Given the description of an element on the screen output the (x, y) to click on. 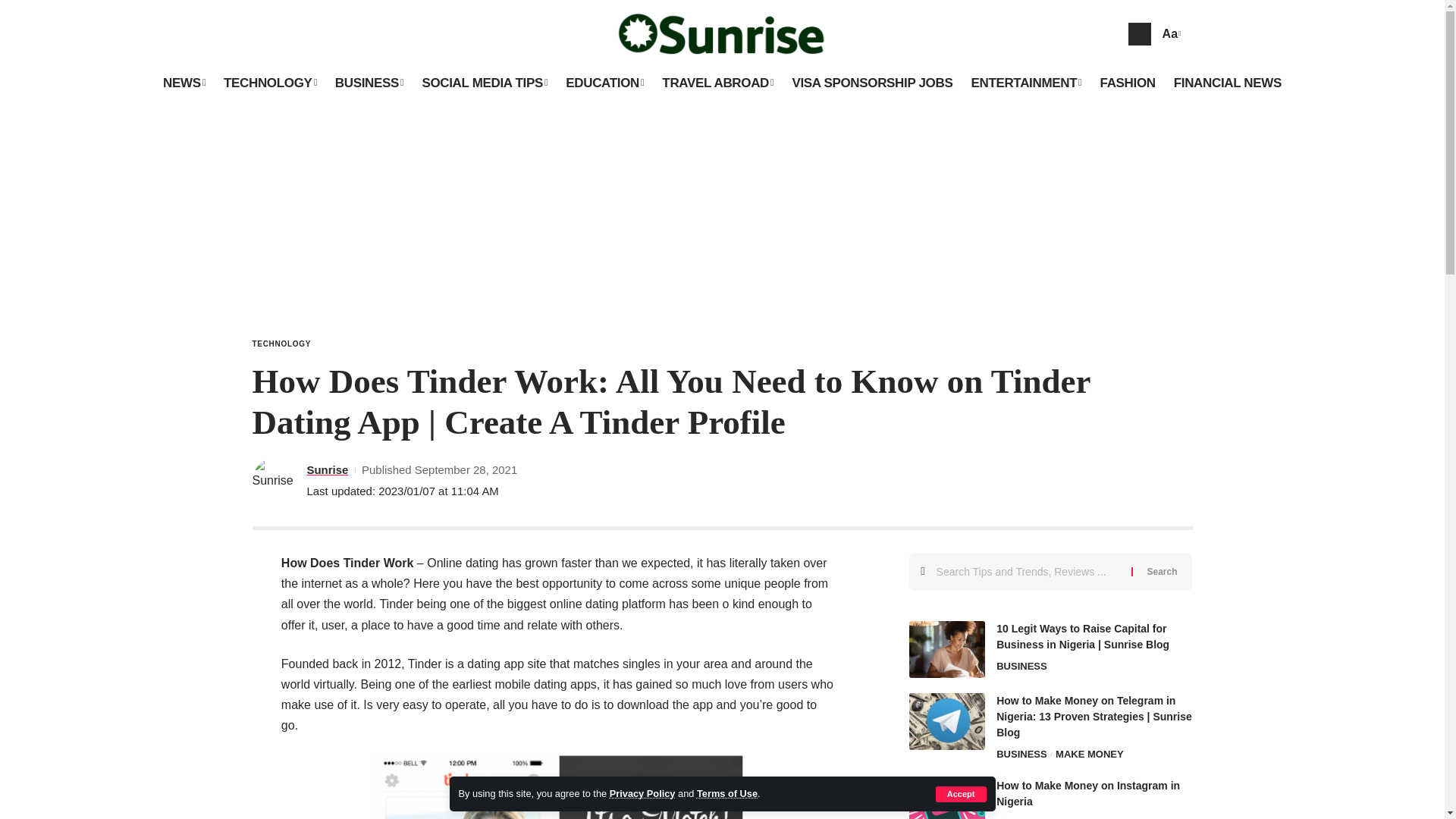
TECHNOLOGY (270, 82)
Aa (1169, 33)
Search (1161, 571)
SunRise (722, 33)
Terms of Use (727, 793)
NEWS (184, 82)
BUSINESS (369, 82)
Accept (961, 794)
Privacy Policy (642, 793)
